Given the description of an element on the screen output the (x, y) to click on. 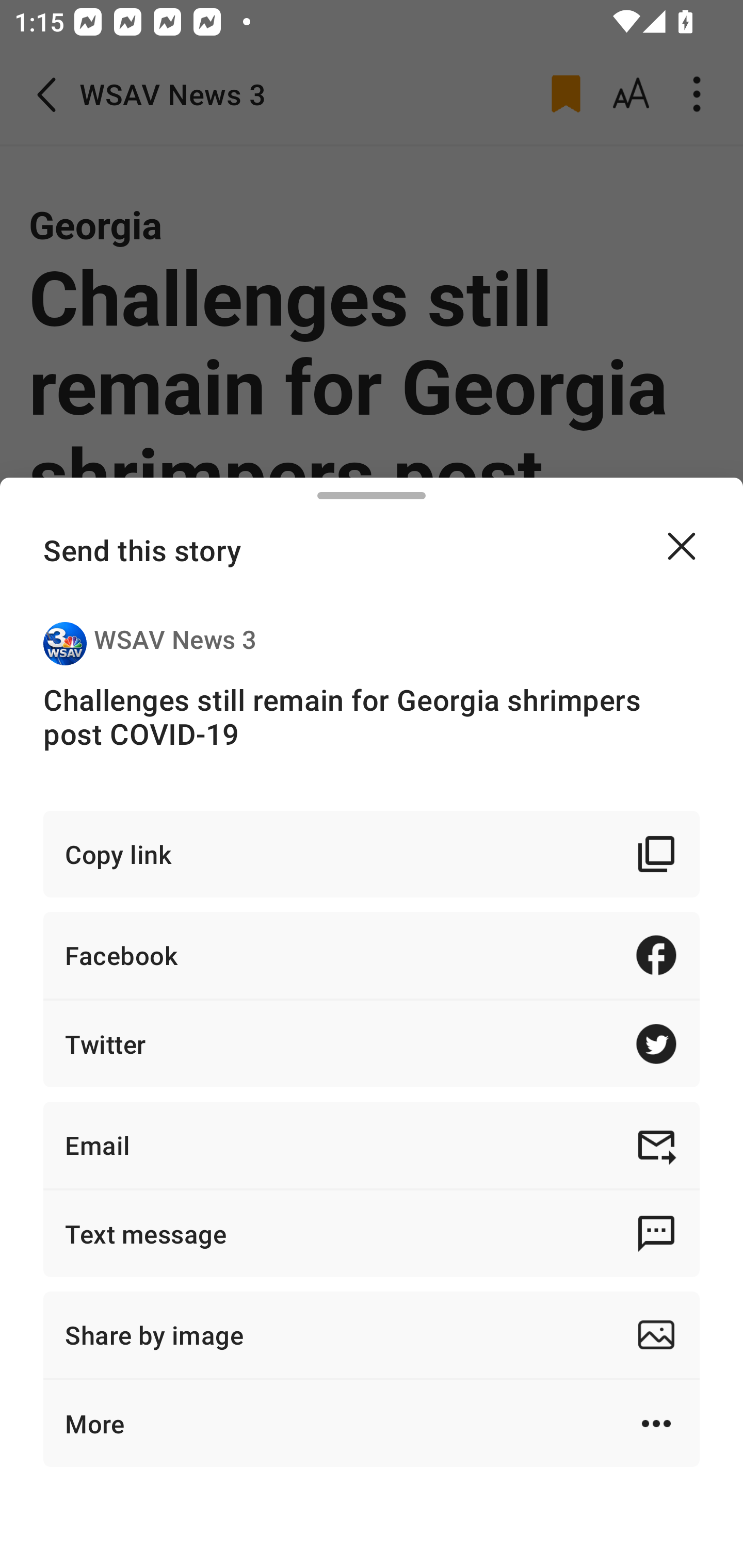
Copy link (371, 853)
Facebook (371, 955)
Twitter (371, 1043)
Email (371, 1145)
Text message (371, 1233)
Share by image (371, 1335)
More (371, 1423)
